Given the description of an element on the screen output the (x, y) to click on. 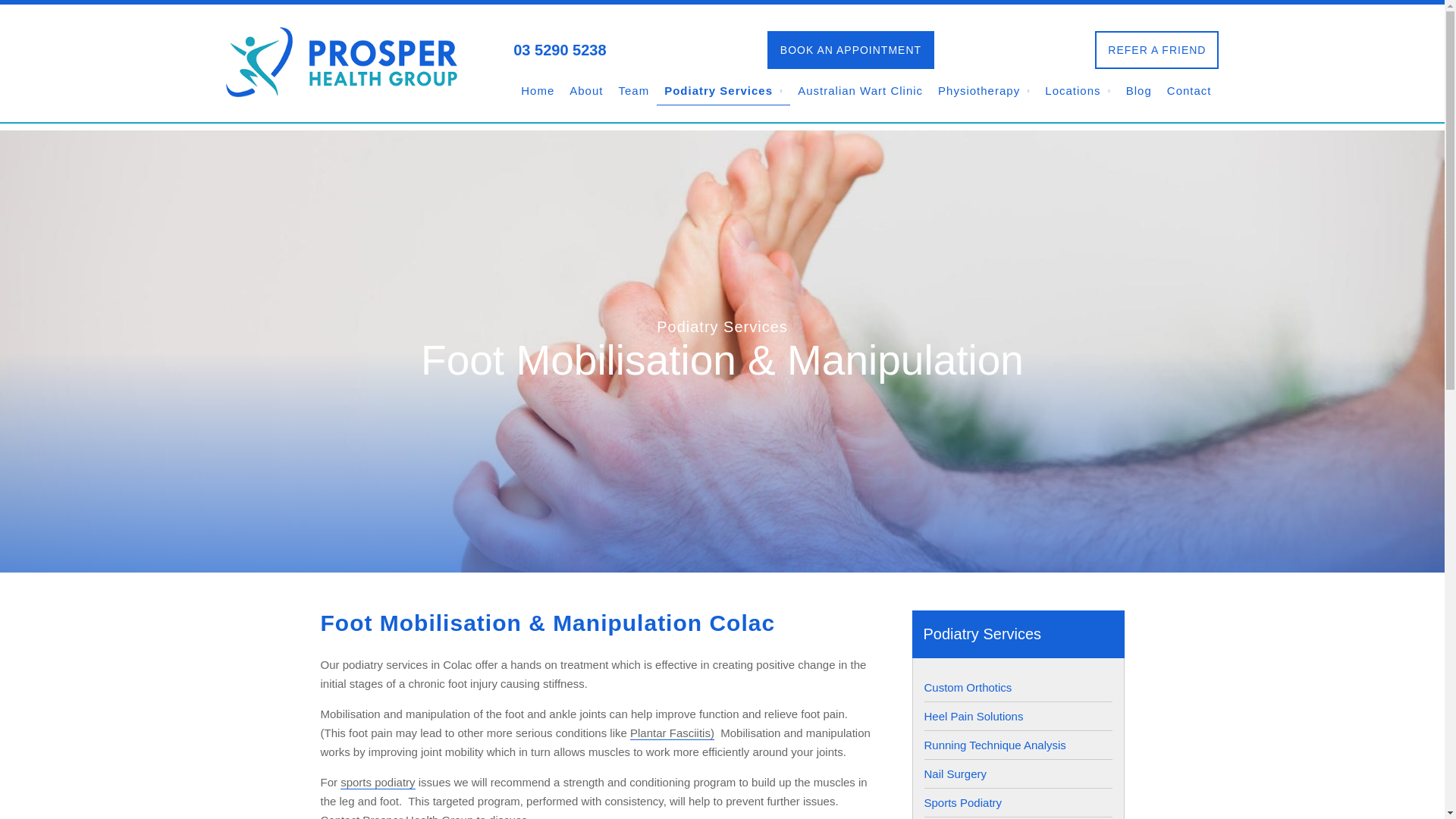
Heel Pain Solutions (1017, 716)
REFER A FRIEND (1156, 49)
Podiatry Services (723, 90)
Contact (339, 816)
sports podiatry (377, 782)
Physiotherapy (983, 90)
Sports Podiatry (1017, 802)
Custom Orthotics (1017, 687)
About (586, 90)
Running Technique Analysis (1017, 745)
